Given the description of an element on the screen output the (x, y) to click on. 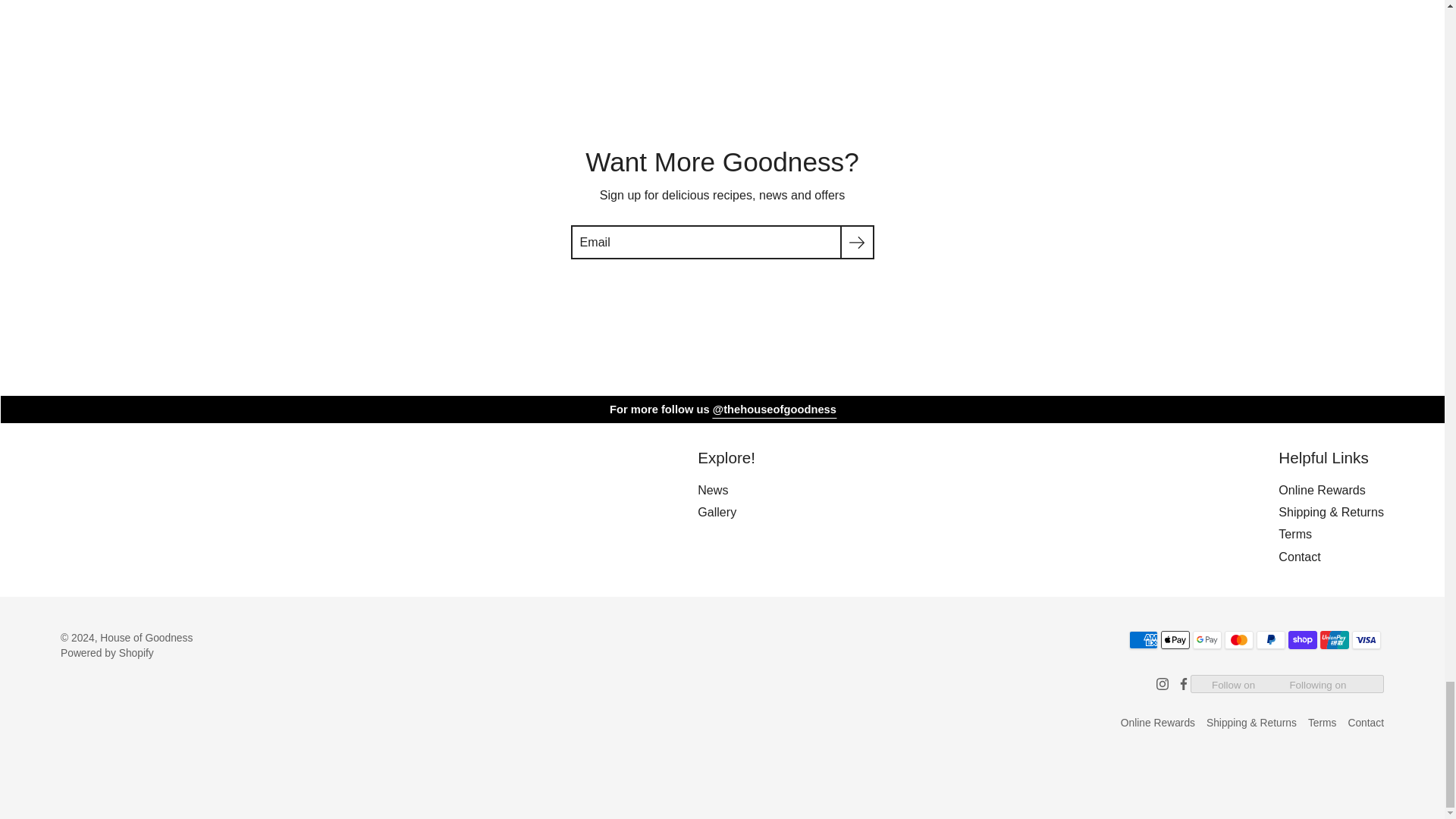
American Express (1143, 639)
PayPal (1270, 639)
Shop Pay (1302, 639)
Apple Pay (1174, 639)
Visa (1366, 639)
Union Pay (1334, 639)
Mastercard (1238, 639)
Google Pay (1206, 639)
